Given the description of an element on the screen output the (x, y) to click on. 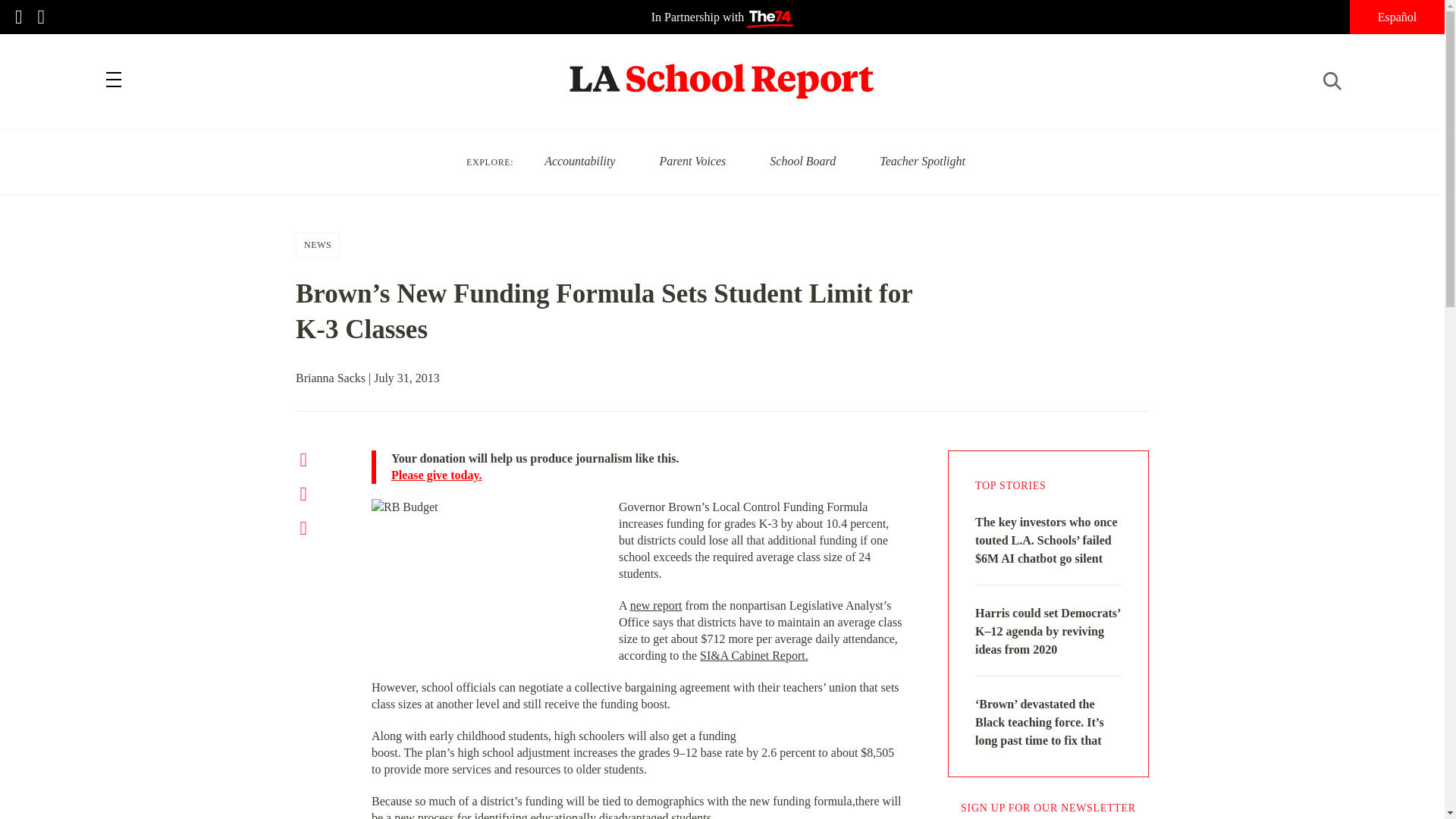
Please give today. (646, 475)
LA School Report (721, 71)
new report (656, 604)
Teacher Spotlight (922, 160)
Parent Voices (692, 160)
In Partnership with 74 (721, 16)
School Board (802, 160)
NEWS (317, 244)
Accountability (579, 160)
